Given the description of an element on the screen output the (x, y) to click on. 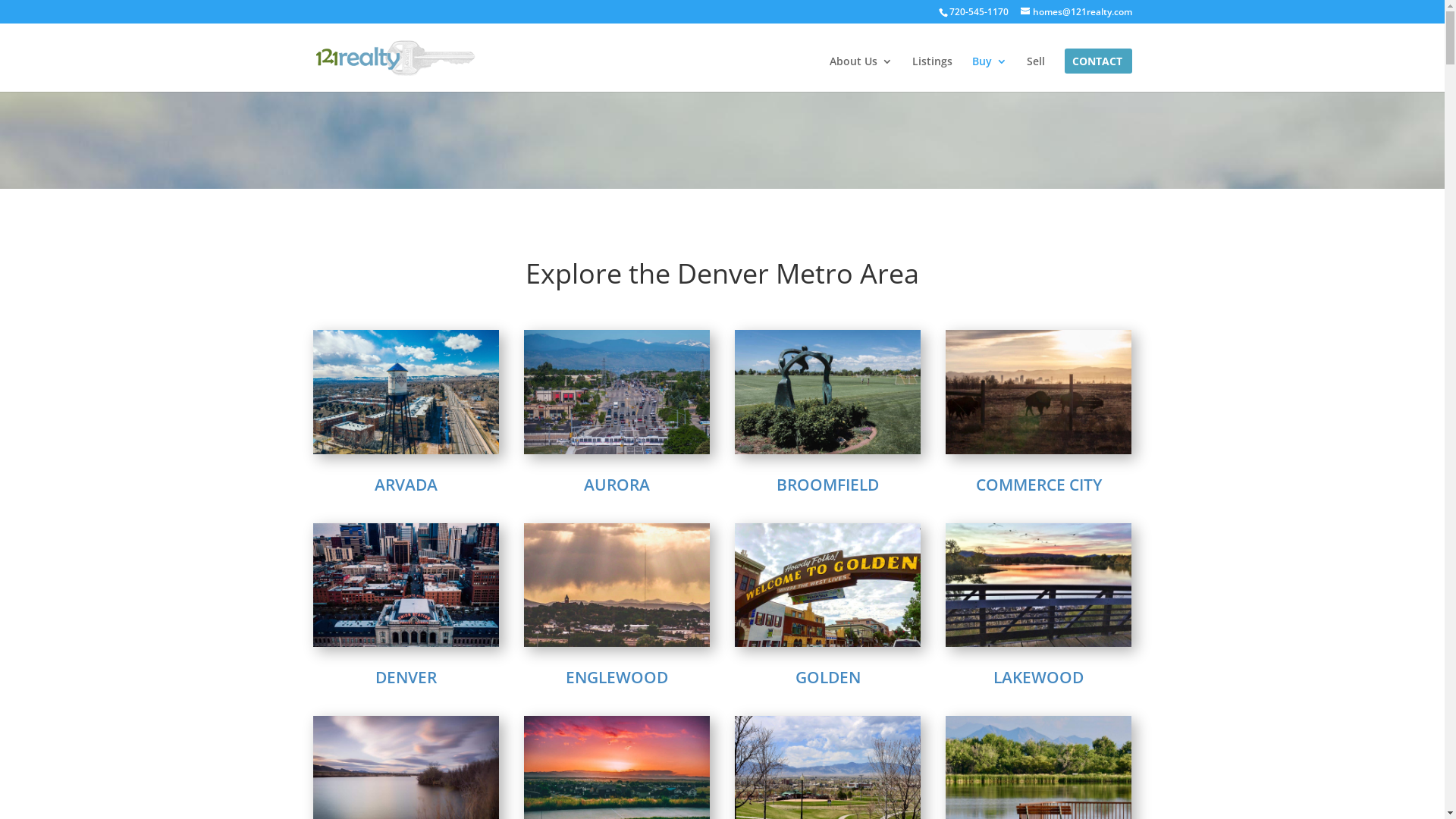
AURORA Element type: text (616, 484)
DENVER Element type: text (405, 676)
BROOMFIELD Element type: text (827, 484)
Listings Element type: text (931, 73)
CONTACT Element type: text (1097, 73)
Sell Element type: text (1035, 73)
About Us Element type: text (860, 73)
LAKEWOOD Element type: text (1038, 676)
homes@121realty.com Element type: text (1076, 11)
COMMERCE CITY Element type: text (1038, 484)
ENGLEWOOD Element type: text (616, 676)
ARVADA Element type: text (405, 484)
GOLDEN Element type: text (826, 676)
Buy Element type: text (989, 73)
